Given the description of an element on the screen output the (x, y) to click on. 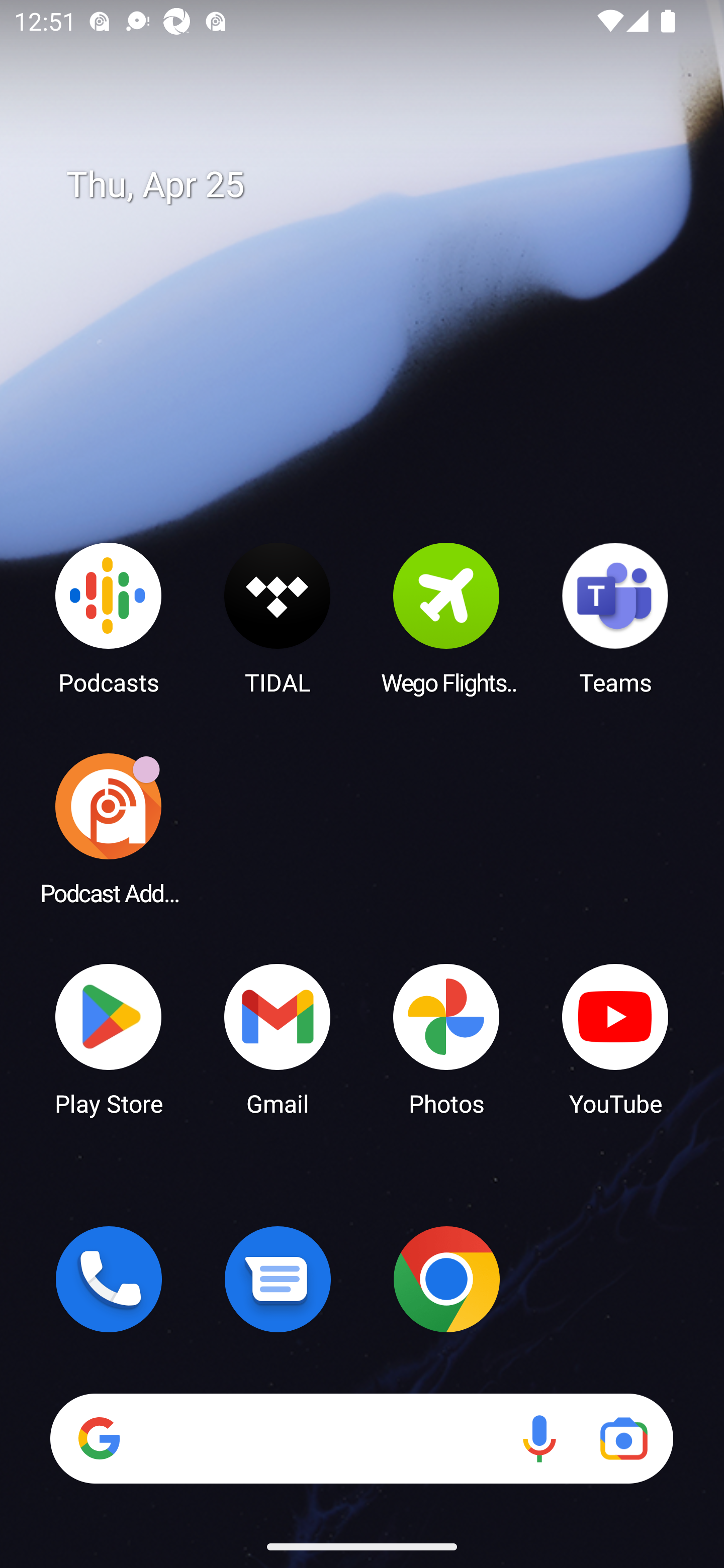
Thu, Apr 25 (375, 184)
Podcasts (108, 617)
TIDAL (277, 617)
Wego Flights & Hotels (445, 617)
Teams (615, 617)
Play Store (108, 1038)
Gmail (277, 1038)
Photos (445, 1038)
YouTube (615, 1038)
Phone (108, 1279)
Messages (277, 1279)
Chrome (446, 1279)
Search Voice search Google Lens (361, 1438)
Voice search (539, 1438)
Google Lens (623, 1438)
